Given the description of an element on the screen output the (x, y) to click on. 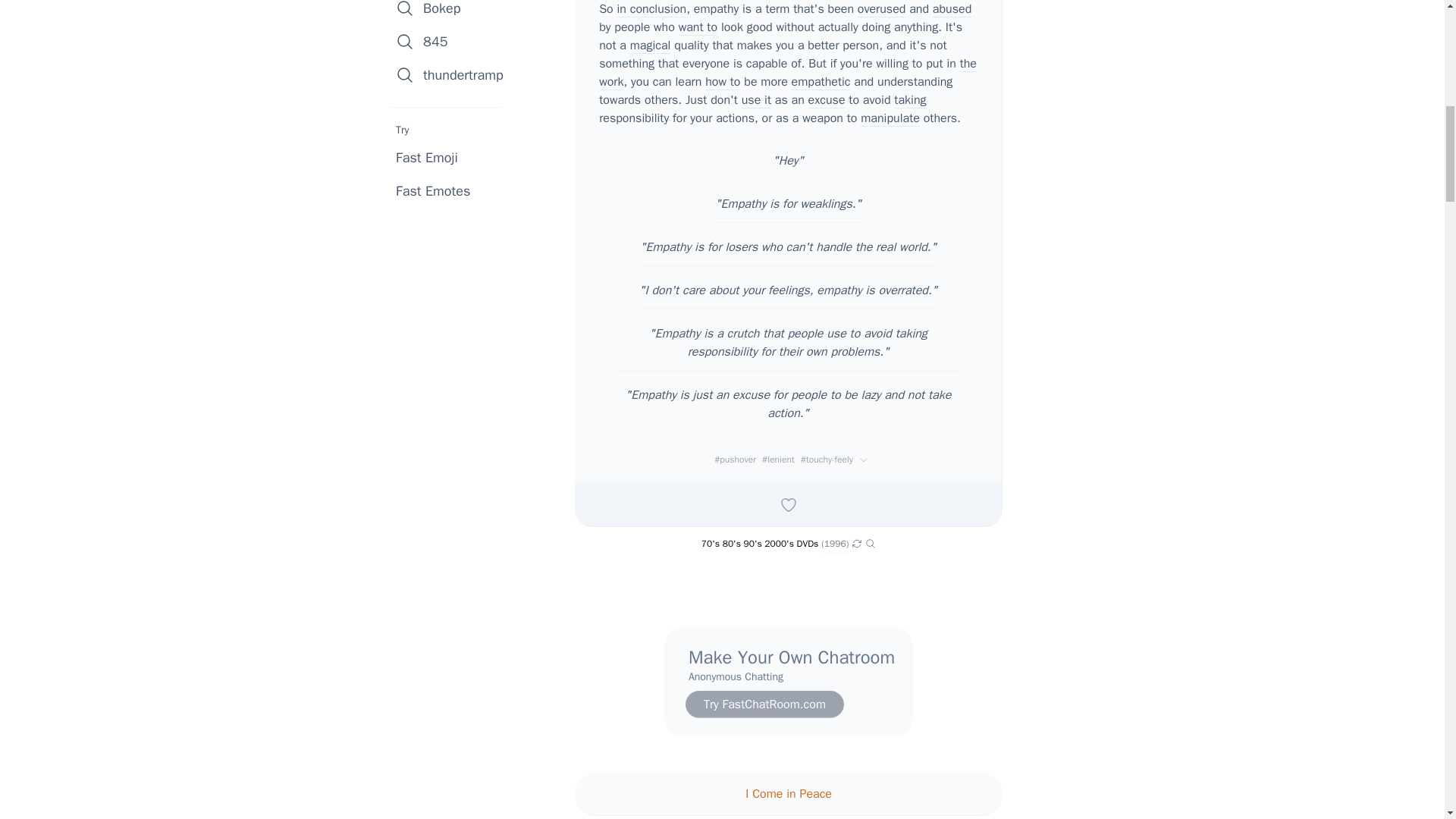
thundertramp (450, 74)
Fast Emotes (433, 190)
Fast Emoji (427, 157)
Bokep (450, 12)
845 (450, 41)
Bokep (450, 12)
thundertramp (450, 74)
845 (450, 41)
